Given the description of an element on the screen output the (x, y) to click on. 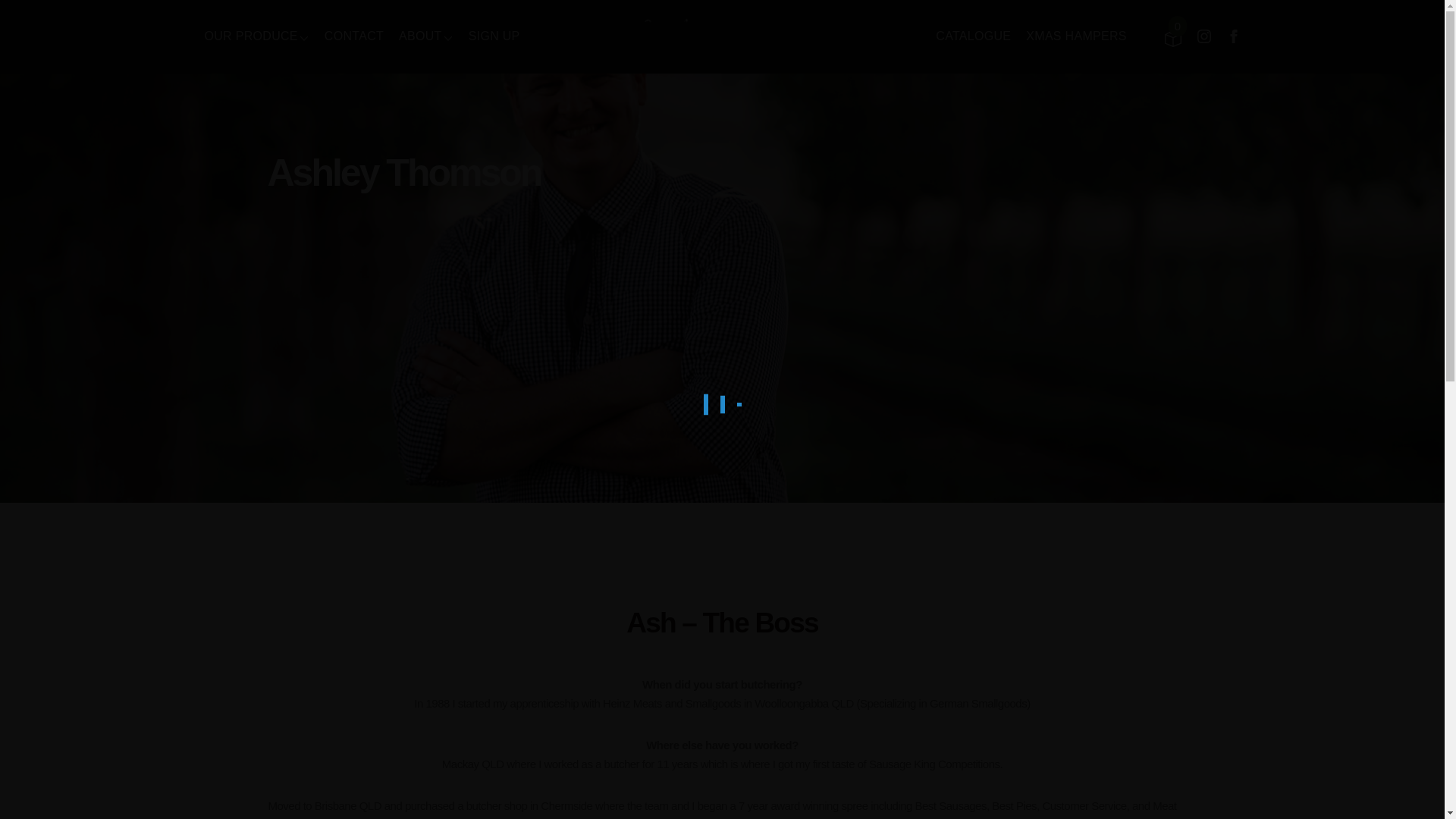
CATALOGUE (973, 35)
SIGN UP (493, 35)
ABOUT (420, 35)
OUR PRODUCE (251, 35)
CONTACT (354, 35)
XMAS HAMPERS (1076, 35)
